Given the description of an element on the screen output the (x, y) to click on. 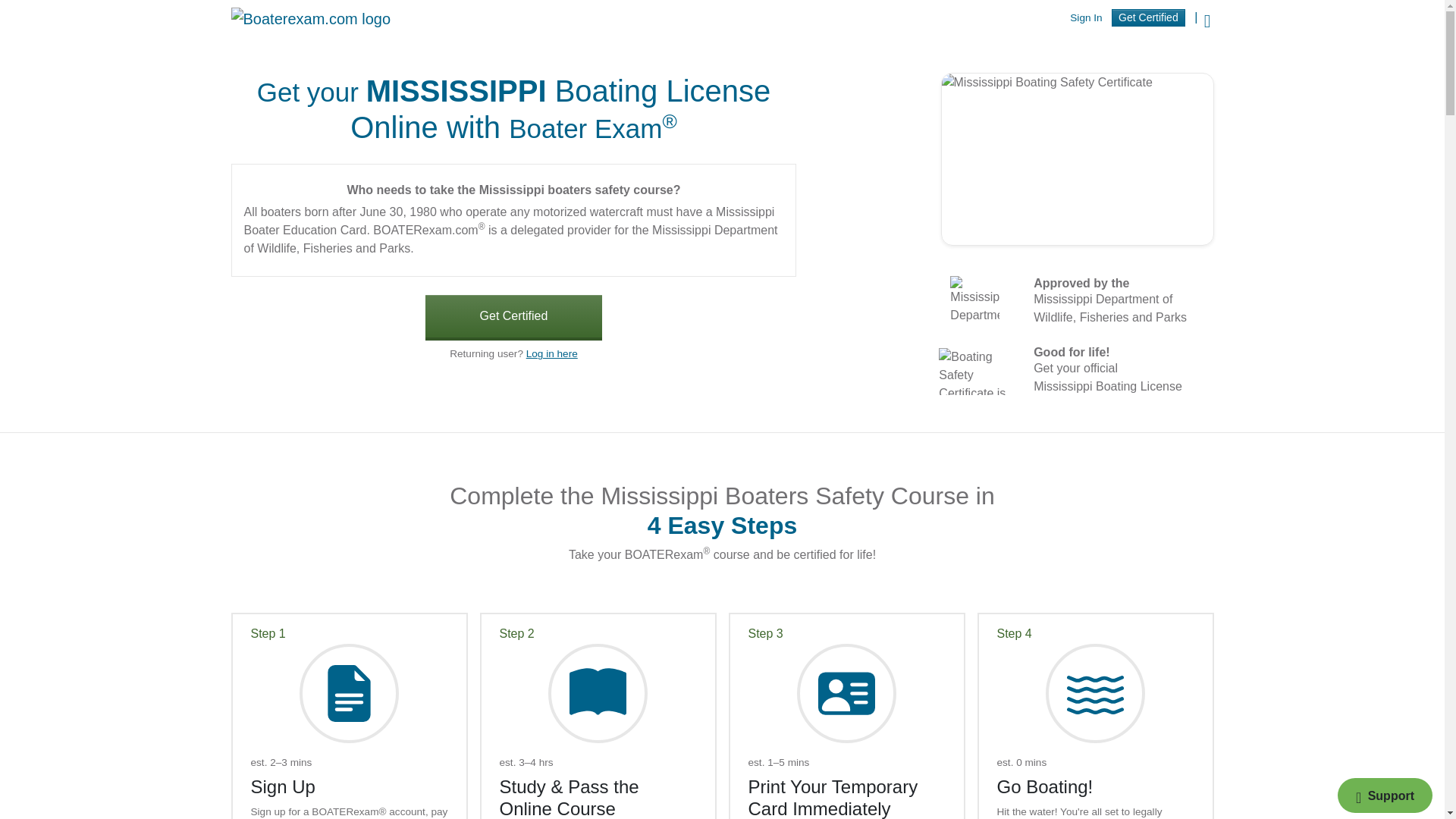
Log in here (551, 353)
Get Certified (1148, 17)
Get Certified (513, 317)
Sign In (1086, 17)
